Given the description of an element on the screen output the (x, y) to click on. 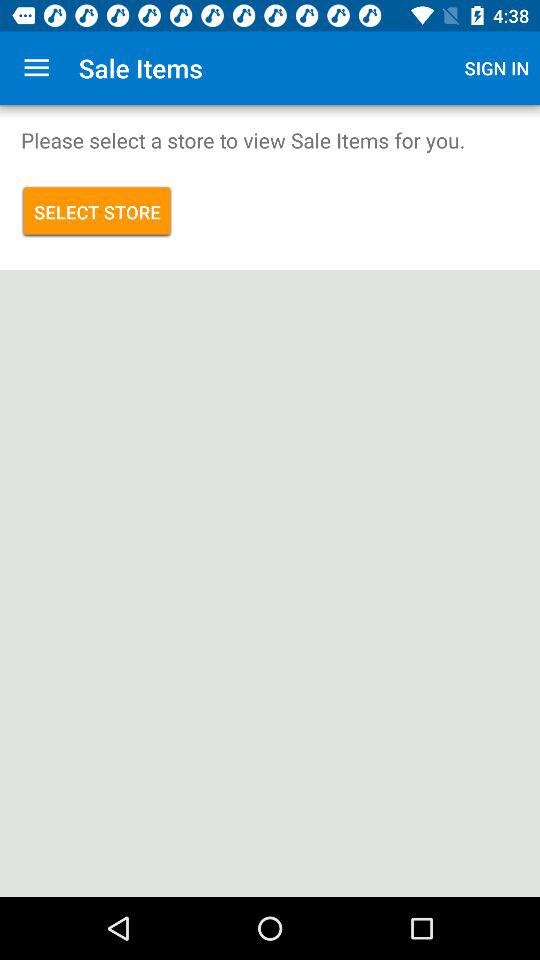
turn off icon next to the sale items app (36, 68)
